Given the description of an element on the screen output the (x, y) to click on. 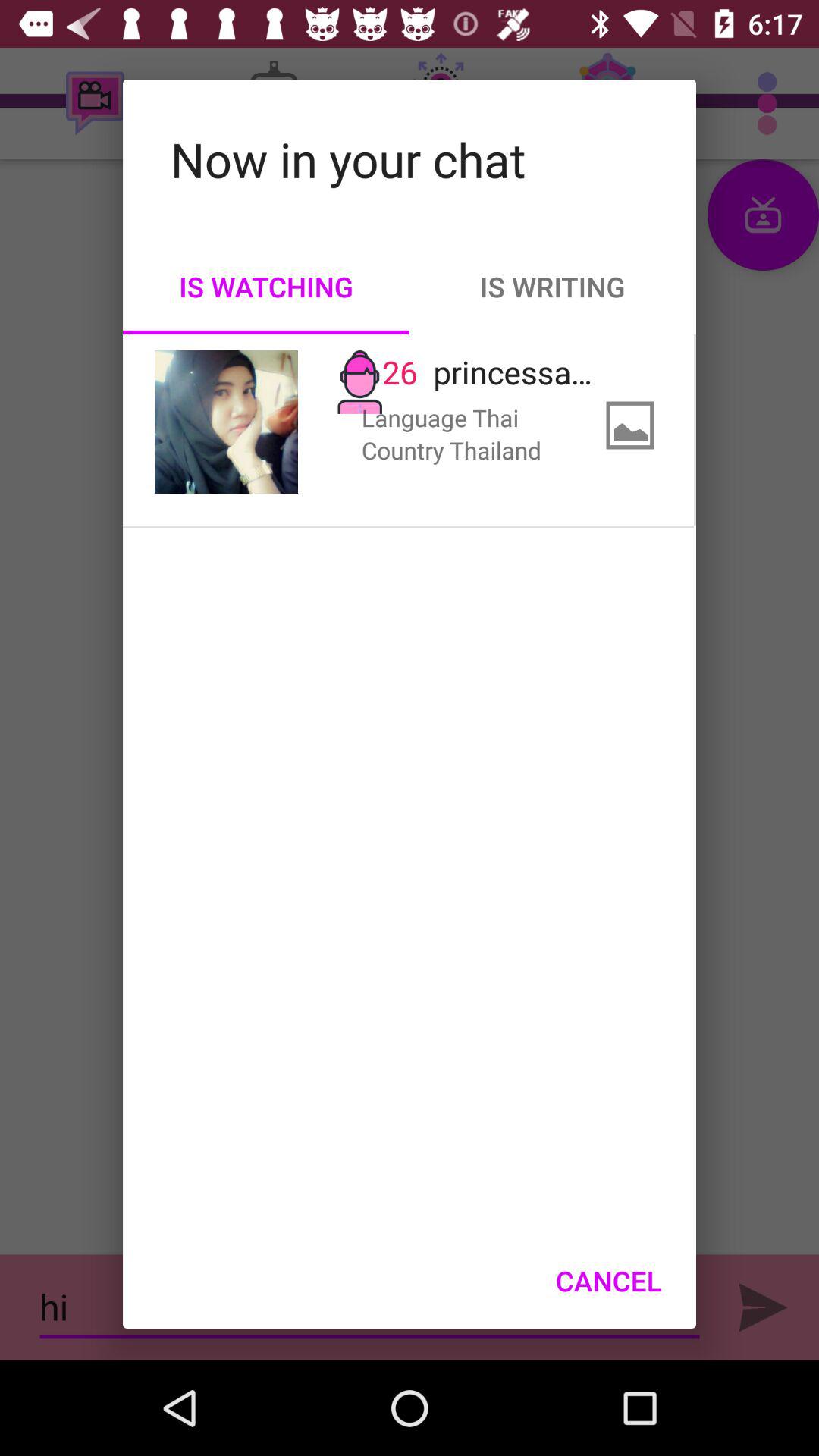
launch the cancel (608, 1280)
